Given the description of an element on the screen output the (x, y) to click on. 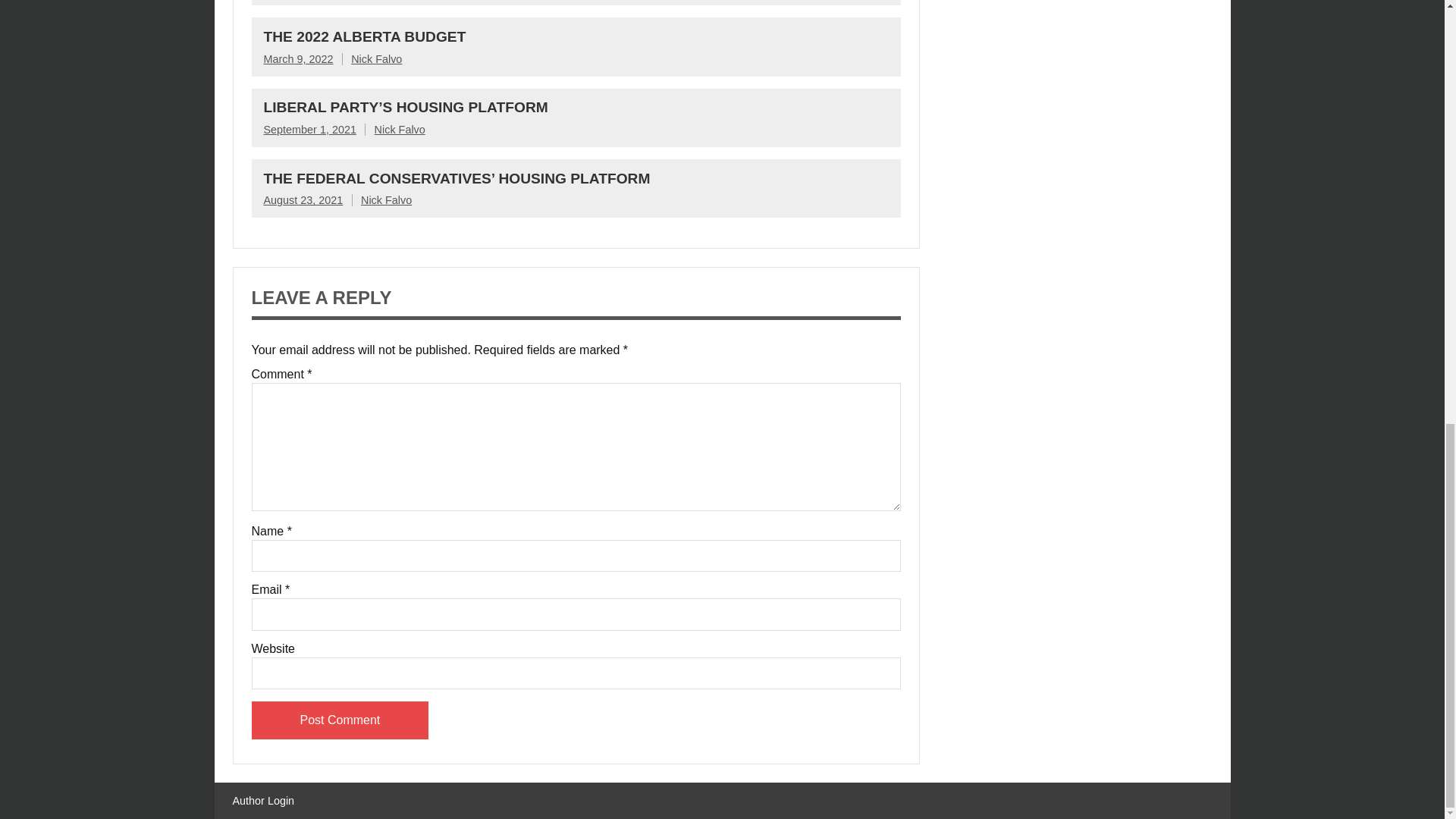
8:25 am (309, 129)
Nick Falvo (399, 129)
5:03 pm (303, 200)
Nick Falvo (375, 59)
View all posts by Nick Falvo (375, 59)
6:46 pm (298, 59)
View all posts by Nick Falvo (386, 200)
View all posts by Nick Falvo (399, 129)
THE 2022 ALBERTA BUDGET (364, 36)
August 23, 2021 (303, 200)
Post Comment (340, 720)
September 1, 2021 (309, 129)
March 9, 2022 (298, 59)
